Given the description of an element on the screen output the (x, y) to click on. 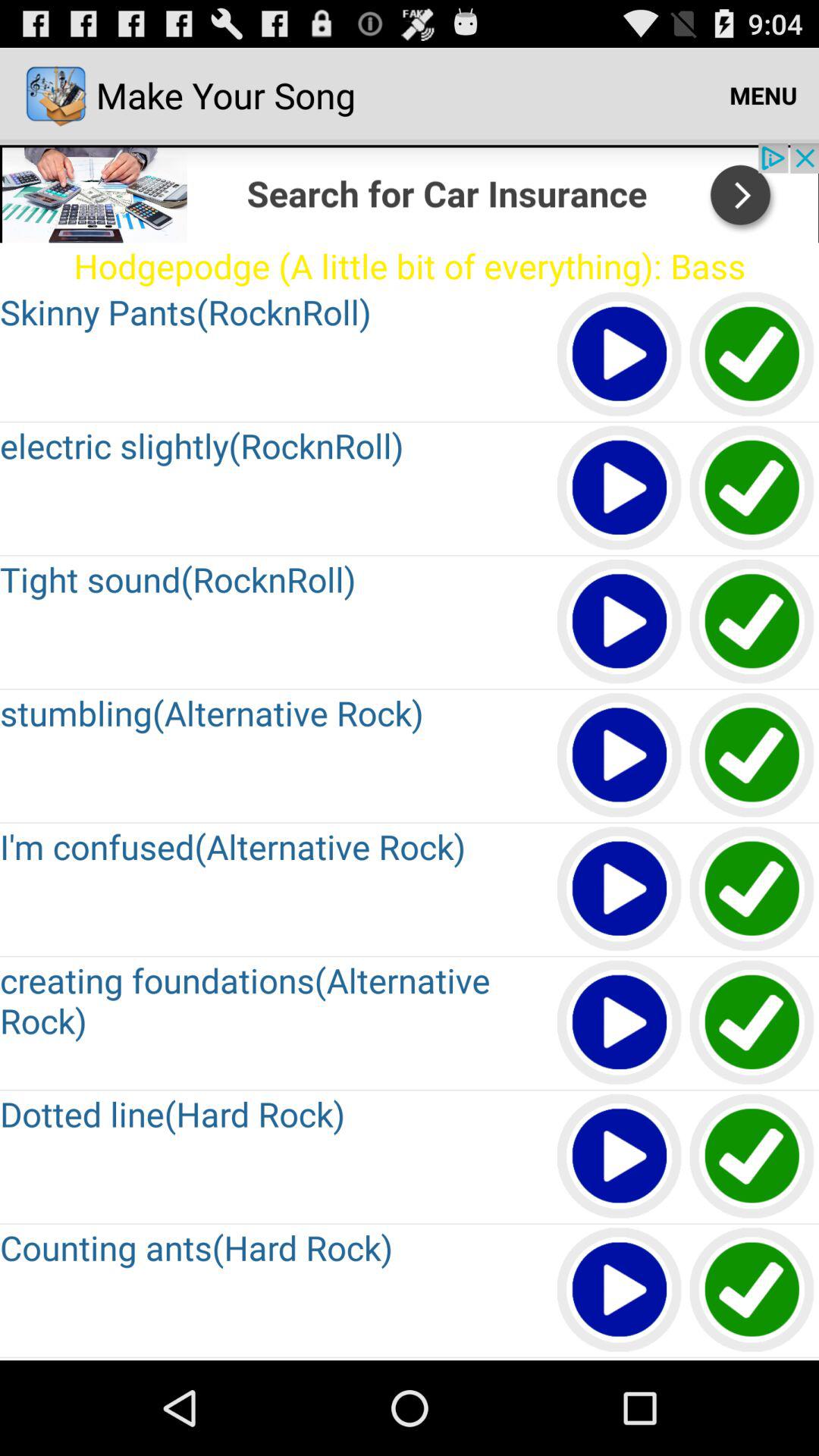
selection option (752, 1023)
